Given the description of an element on the screen output the (x, y) to click on. 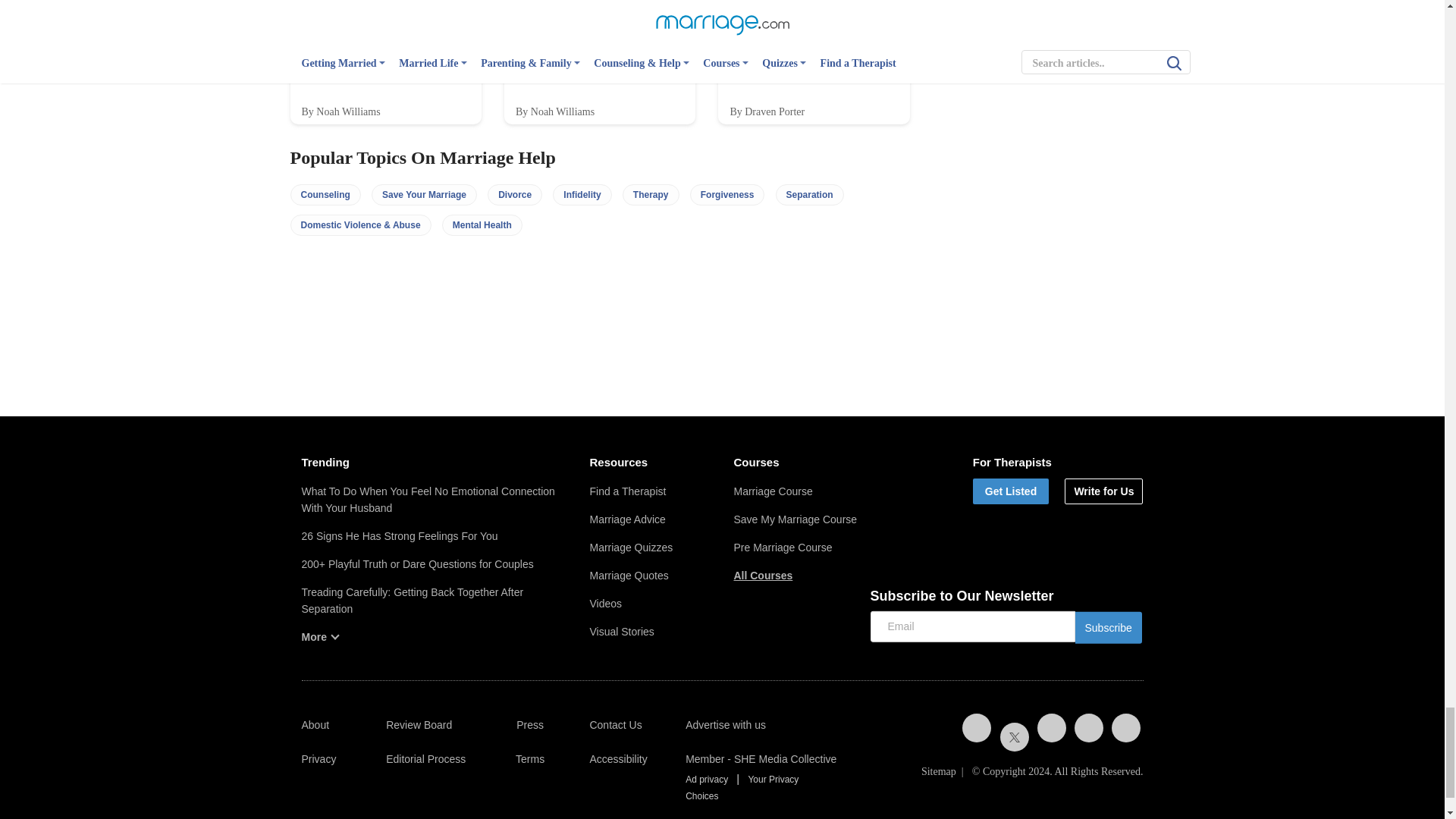
Subscribe (1108, 627)
